Given the description of an element on the screen output the (x, y) to click on. 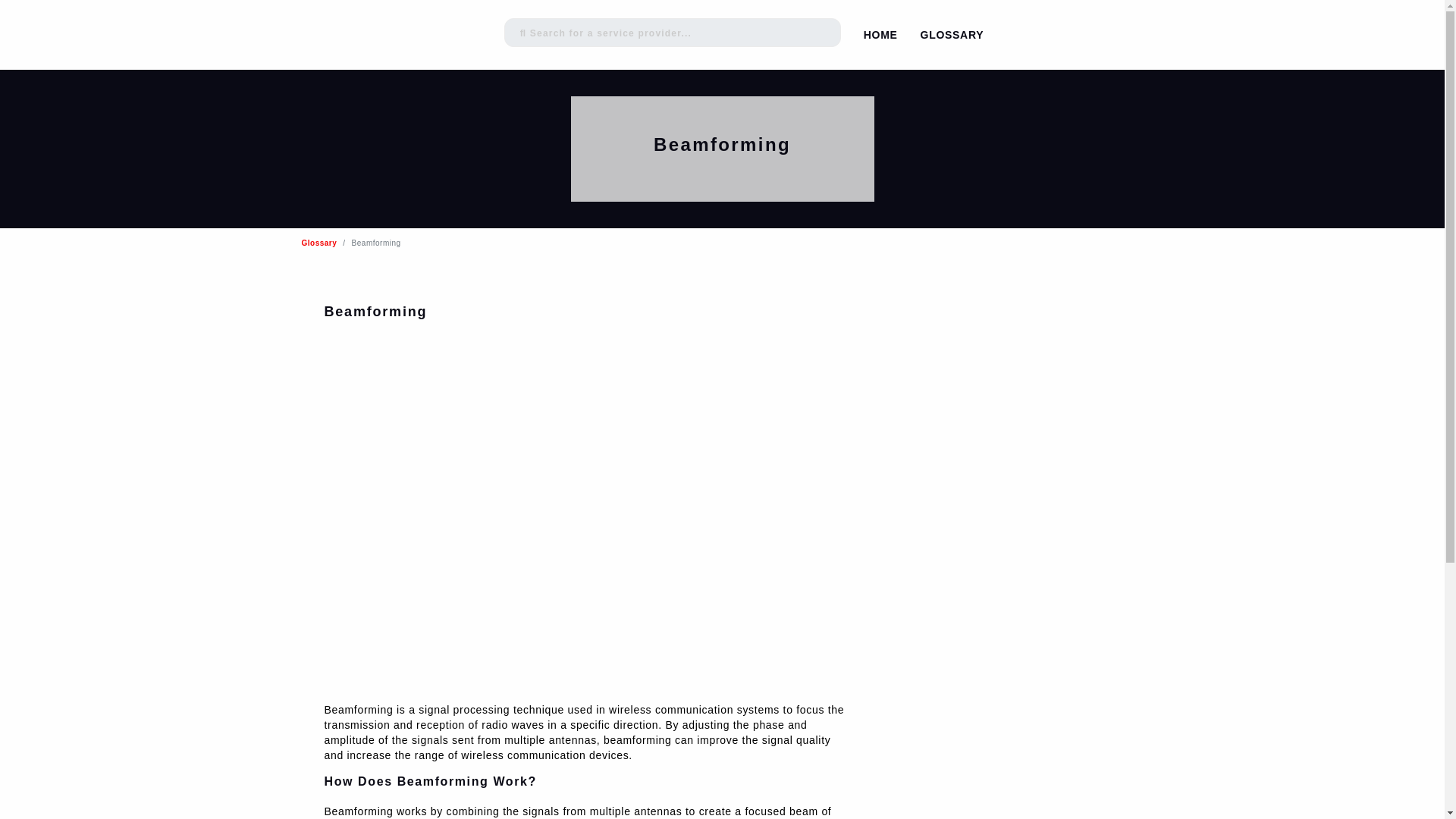
GLOSSARY (951, 34)
Glossary (319, 243)
HOME (879, 34)
